Given the description of an element on the screen output the (x, y) to click on. 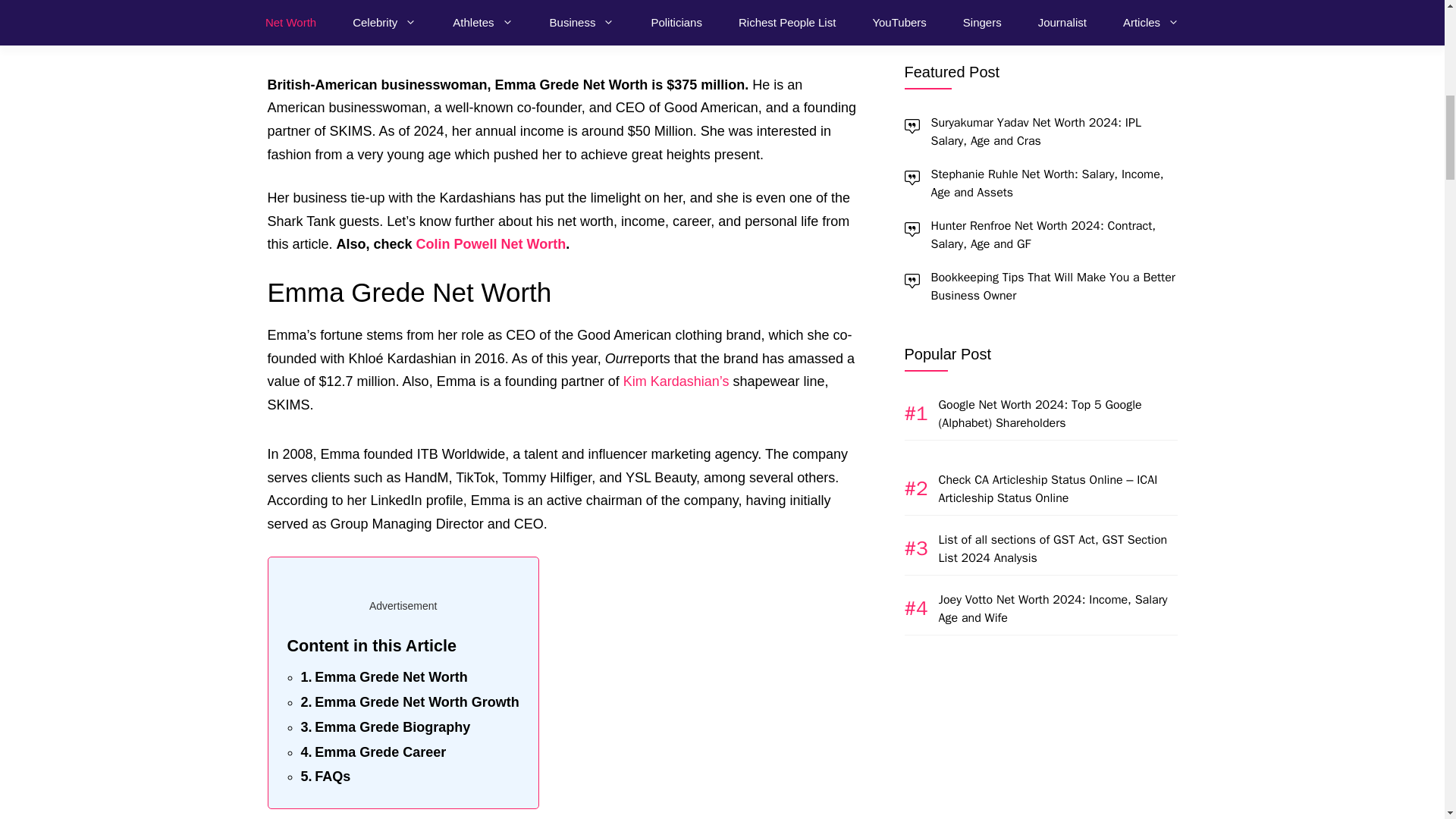
Emma Grede Career (372, 752)
FAQs (324, 776)
Emma Grede Net Worth Growth (408, 702)
Emma Grede Biography (384, 727)
Emma Grede Net Worth (383, 677)
